Given the description of an element on the screen output the (x, y) to click on. 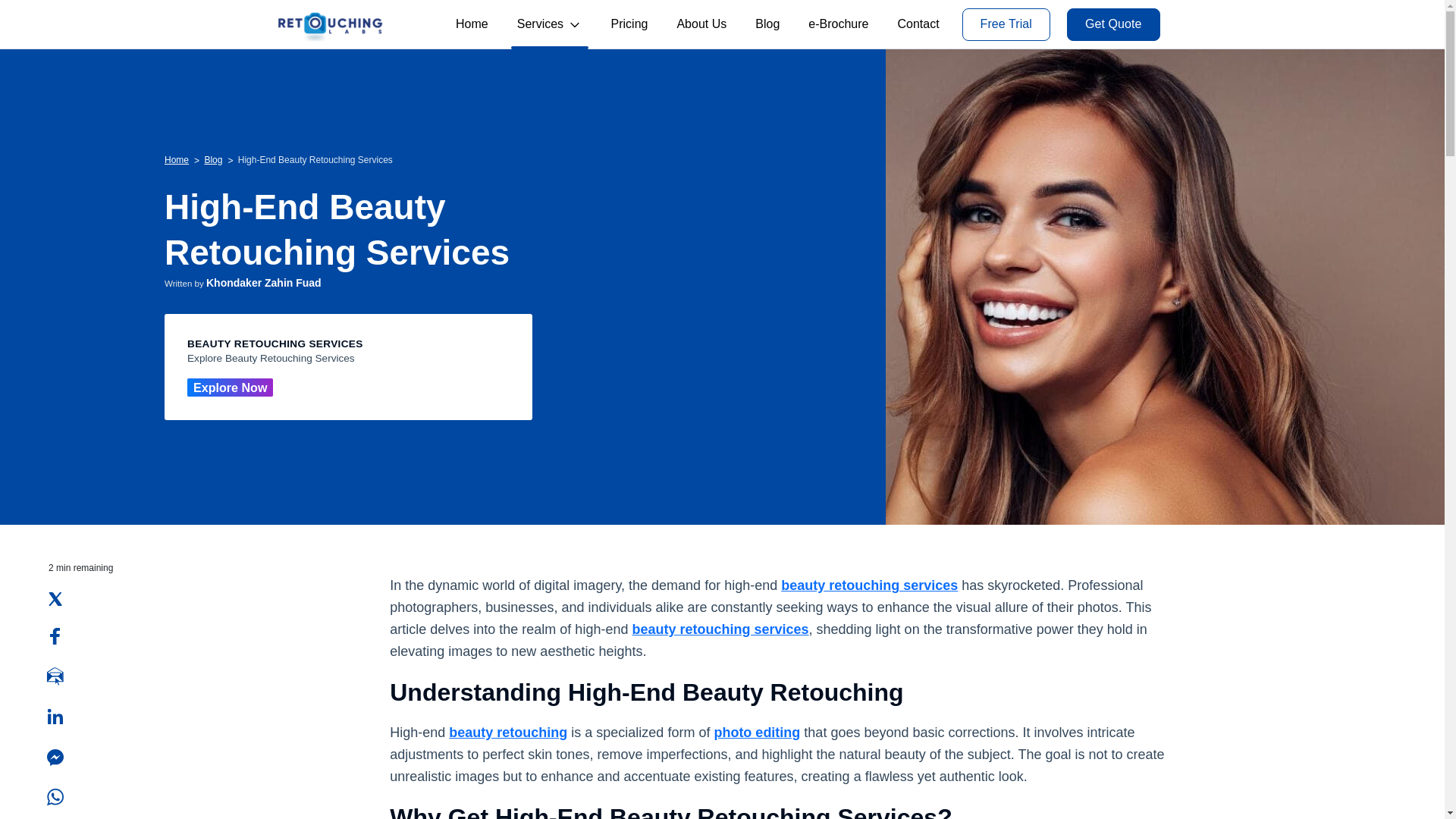
Free Trial (1005, 23)
Twitter (55, 598)
WhatsApp (54, 796)
About Us (700, 24)
Pricing (629, 24)
Home (472, 24)
Khondaker Zahin Fuad (263, 282)
Home (176, 160)
Contact (917, 24)
LinkedIn (54, 716)
Email App (54, 676)
Messenger (54, 756)
Get Quote (1113, 23)
e-Brochure (838, 24)
Blog (212, 160)
